Given the description of an element on the screen output the (x, y) to click on. 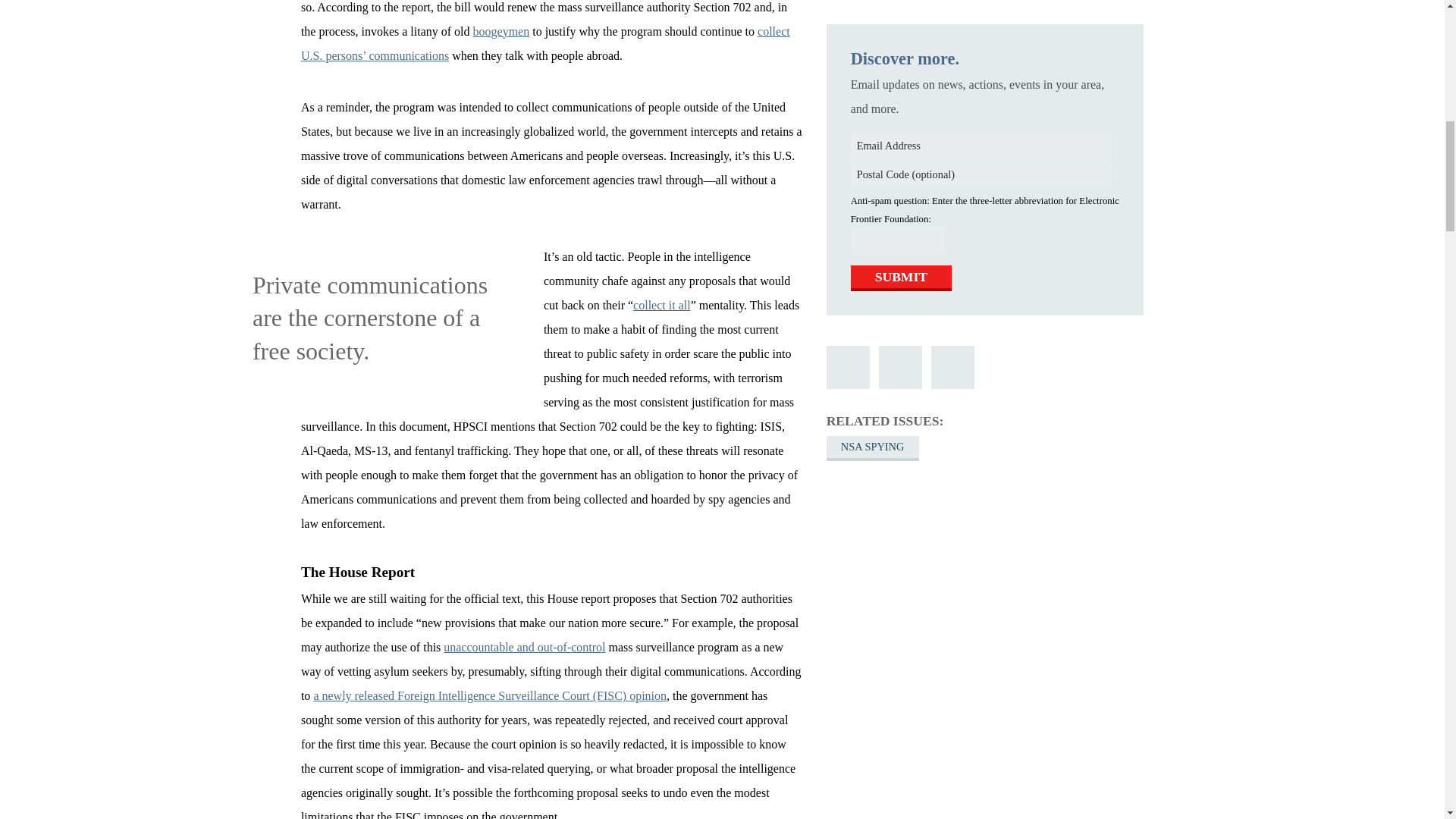
Submit (901, 82)
